Given the description of an element on the screen output the (x, y) to click on. 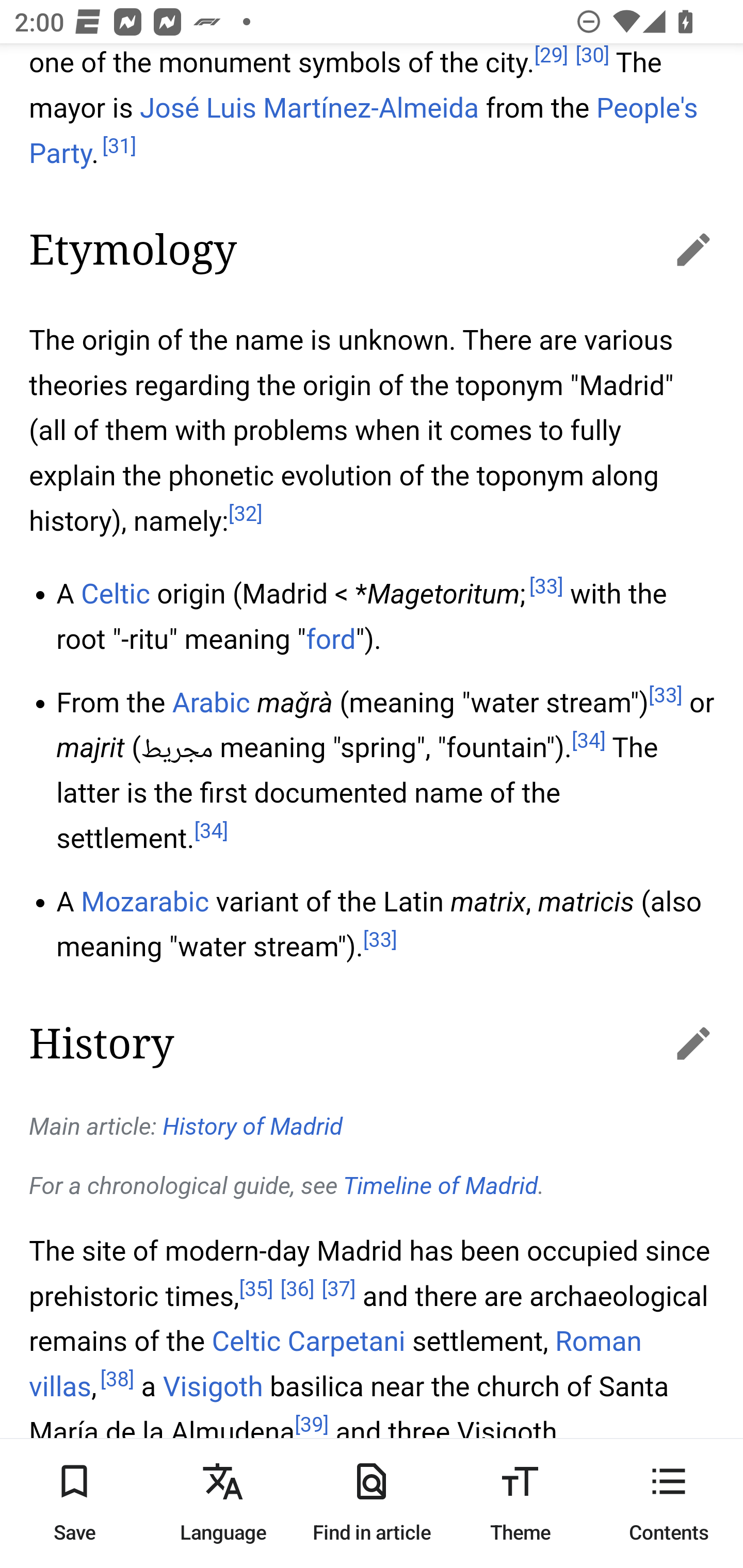
[] [ 29 ] (550, 56)
[] [ 30 ] (592, 56)
People's Party (363, 131)
José Luis Martínez-Almeida (309, 109)
[] [ 31 ] (119, 146)
Edit section (672, 248)
[] [ 32 ] (245, 514)
[] [ 33 ] (545, 586)
Celtic (115, 594)
ford (330, 639)
[] [ 33 ] (665, 695)
Arabic (211, 702)
[] [ 34 ] (588, 740)
[] [ 34 ] (210, 832)
Mozarabic (145, 901)
[] [ 33 ] (379, 940)
Edit section (672, 1042)
History of Madrid (253, 1127)
Timeline of Madrid (440, 1186)
[] [ 35 ] (256, 1289)
[] [ 36 ] (297, 1289)
[] [ 37 ] (339, 1289)
Roman villas (335, 1364)
Celtic (246, 1341)
Carpetani (346, 1341)
[] [ 38 ] (116, 1379)
Visigoth (212, 1387)
[] [ 39 ] (311, 1424)
Save (74, 1502)
Language (222, 1502)
Find in article (371, 1502)
Theme (519, 1502)
Contents (668, 1502)
